Given the description of an element on the screen output the (x, y) to click on. 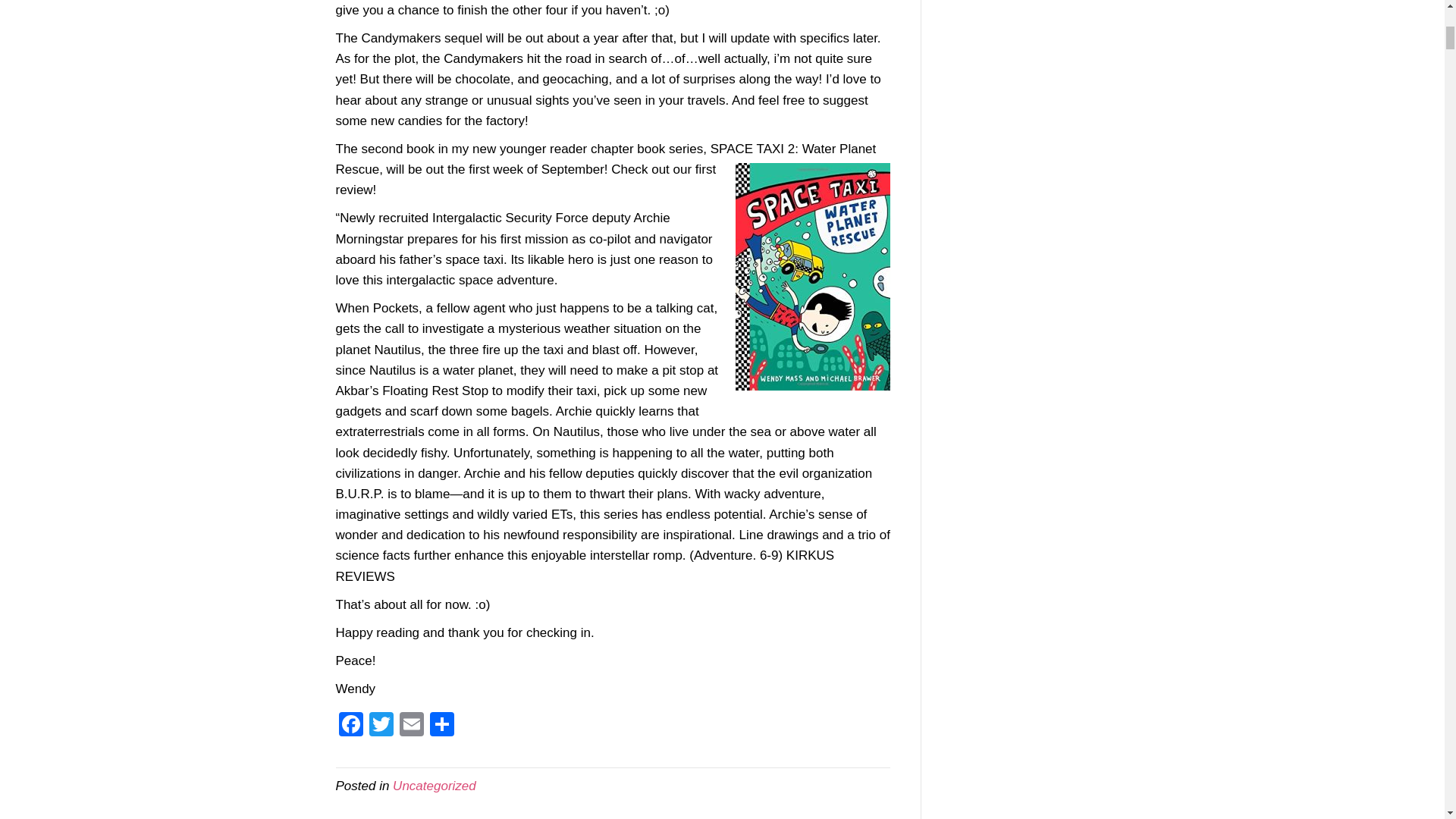
Uncategorized (434, 785)
Facebook (349, 725)
Twitter (380, 725)
Email (411, 725)
Email (411, 725)
Facebook (349, 725)
Twitter (380, 725)
Share (441, 725)
